Given the description of an element on the screen output the (x, y) to click on. 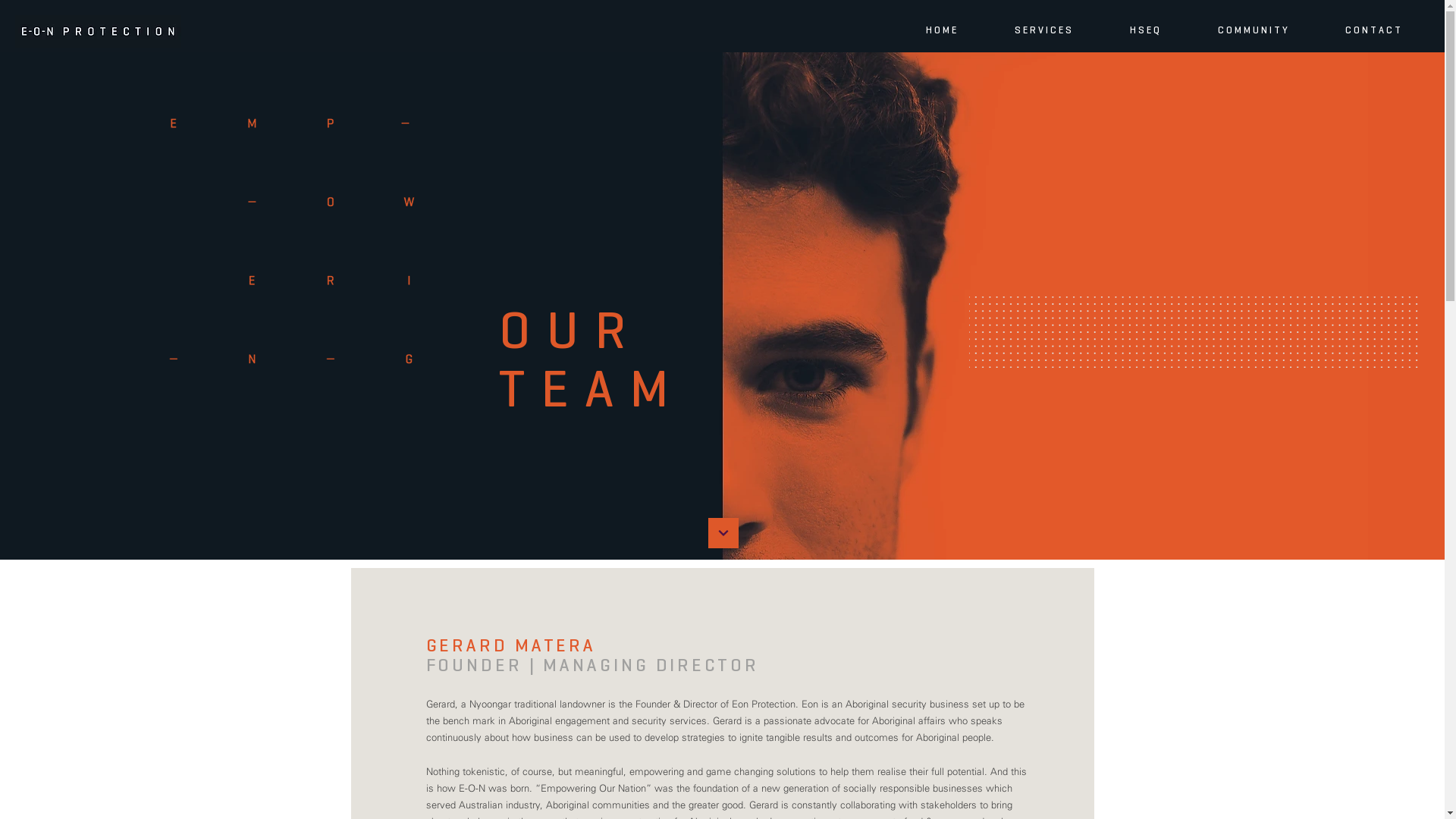
H S E Q Element type: text (1144, 30)
S E R V I C E S Element type: text (1042, 30)
C O M M U N I T Y Element type: text (1252, 30)
H O M E Element type: text (940, 30)
C O N T A C T Element type: text (1372, 30)
